Given the description of an element on the screen output the (x, y) to click on. 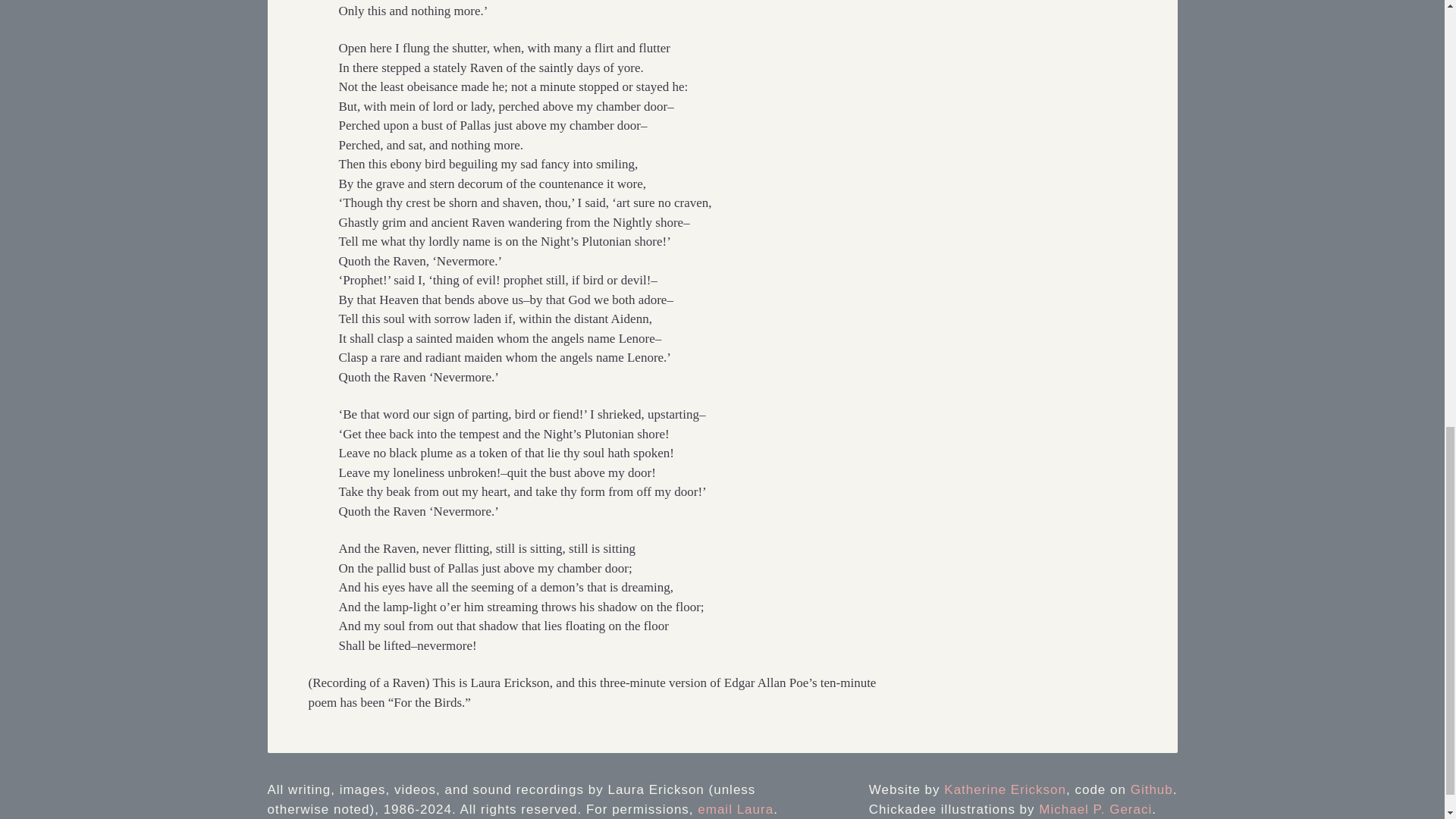
Katherine Erickson (1004, 789)
Github (1152, 789)
email Laura (735, 809)
Michael P. Geraci (1095, 809)
